Given the description of an element on the screen output the (x, y) to click on. 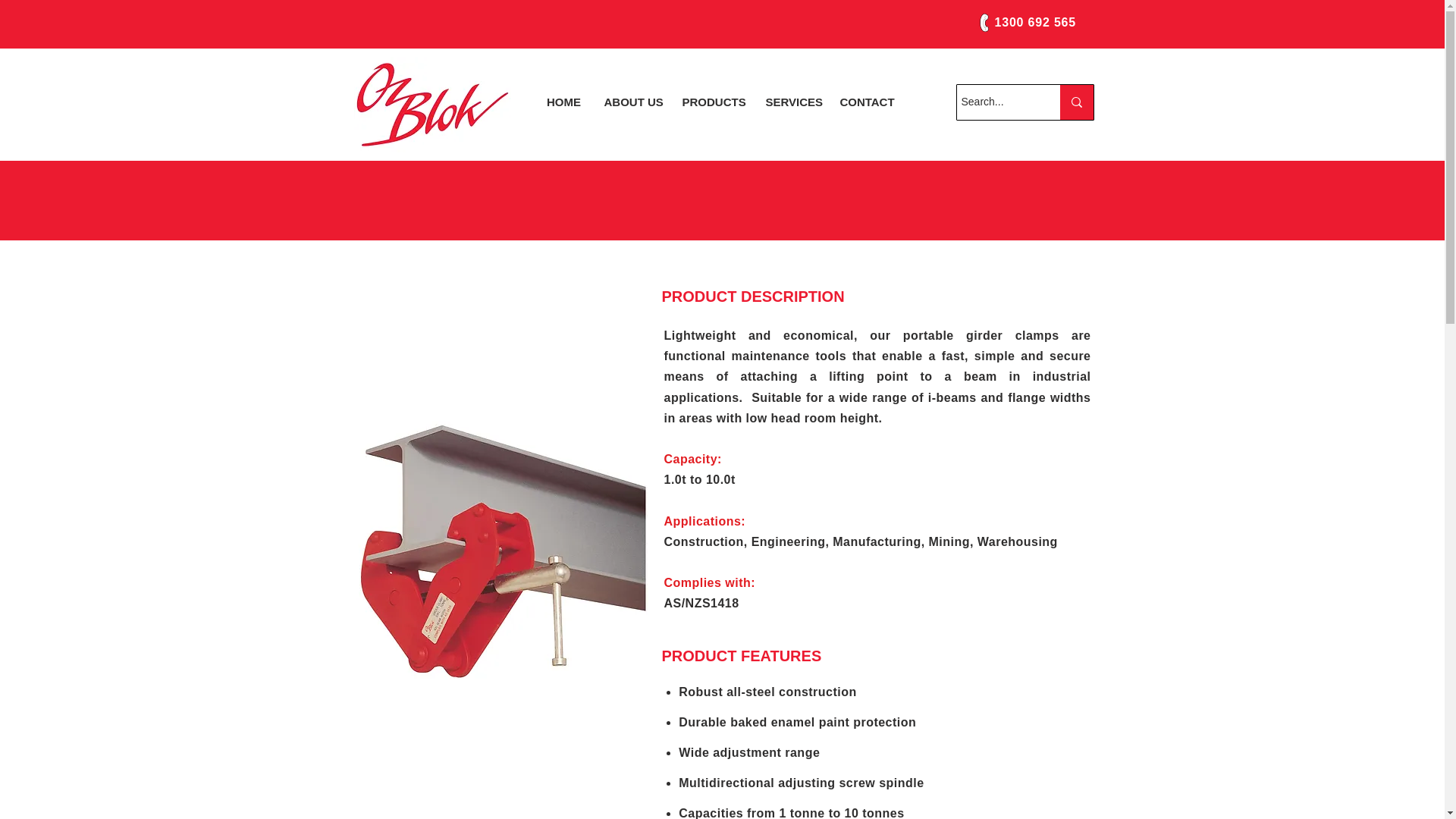
HOME (563, 102)
PRODUCTS (711, 102)
1300 692 565 (1034, 21)
ABOUT US (631, 102)
SERVICES (790, 102)
Girder Clamp (493, 552)
CONTACT (867, 102)
